Given the description of an element on the screen output the (x, y) to click on. 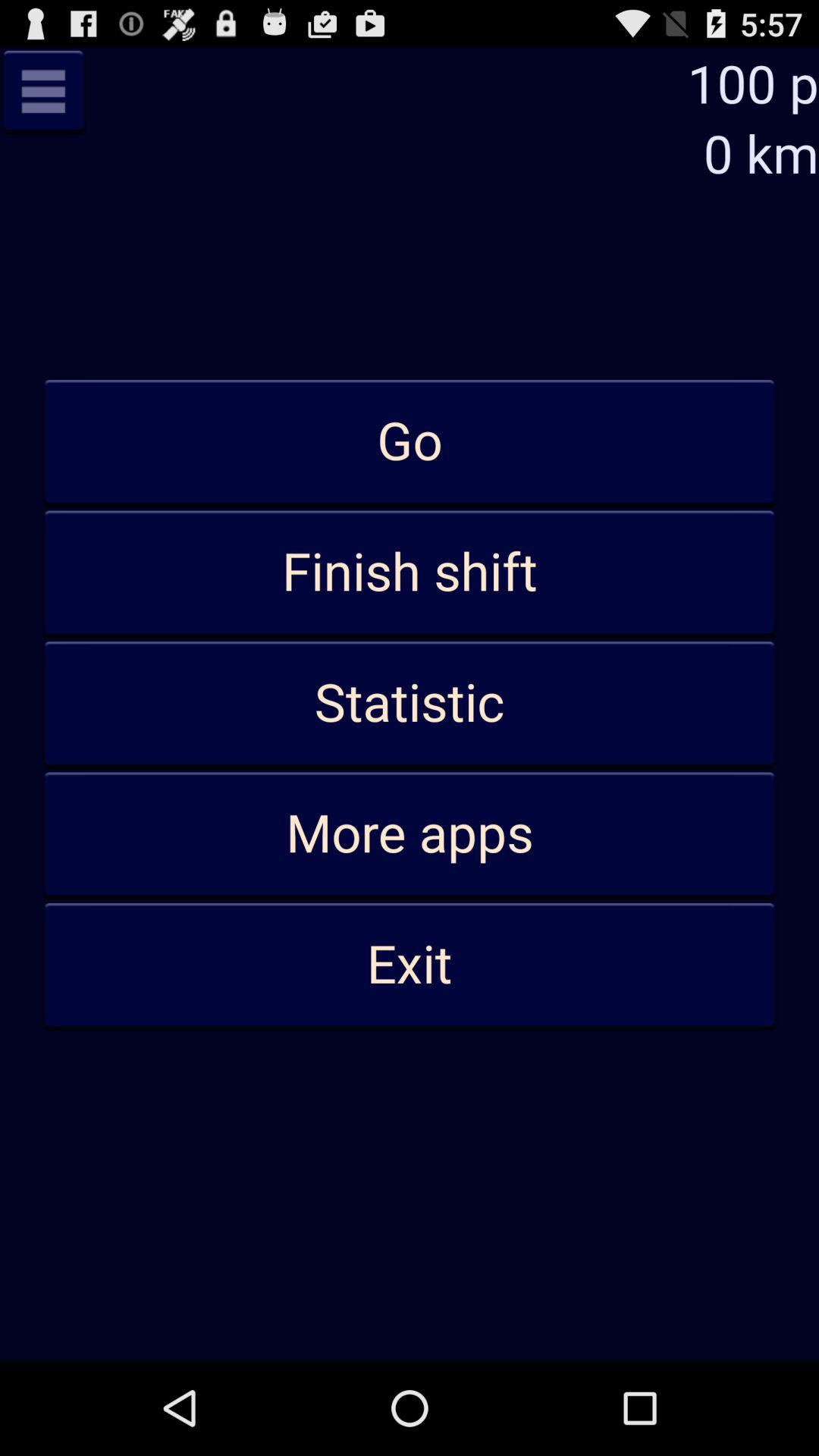
select statistic (409, 703)
